Given the description of an element on the screen output the (x, y) to click on. 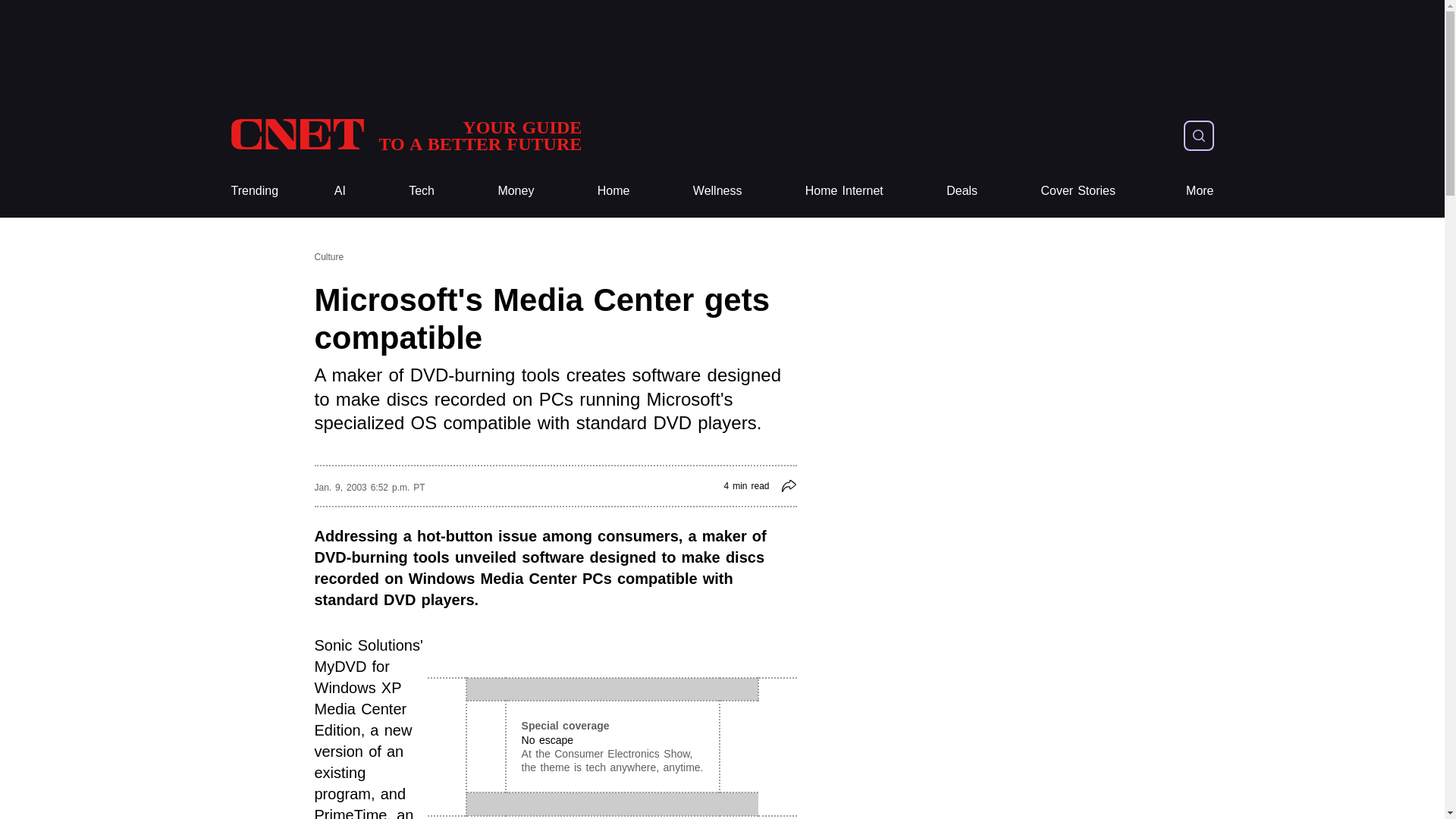
Trending (254, 190)
Trending (405, 135)
Home Internet (254, 190)
CNET (844, 190)
Tech (405, 135)
Wellness (421, 190)
Tech (717, 190)
Home (421, 190)
Money (613, 190)
Deals (515, 190)
Wellness (961, 190)
Home Internet (717, 190)
Money (844, 190)
More (515, 190)
